Given the description of an element on the screen output the (x, y) to click on. 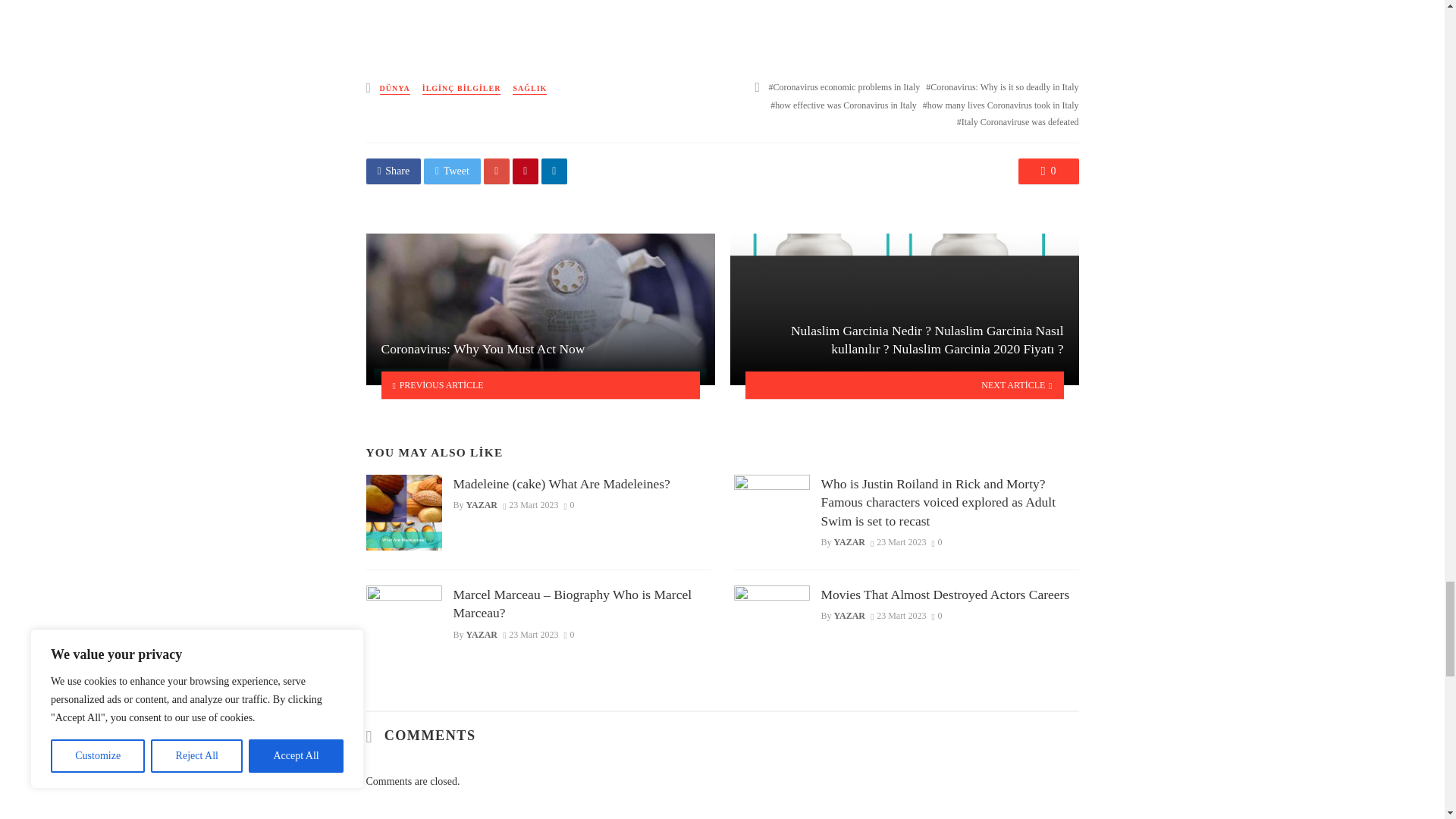
0 Comments (569, 504)
Mart 23, 2023 at 12:51 pm (529, 504)
